Given the description of an element on the screen output the (x, y) to click on. 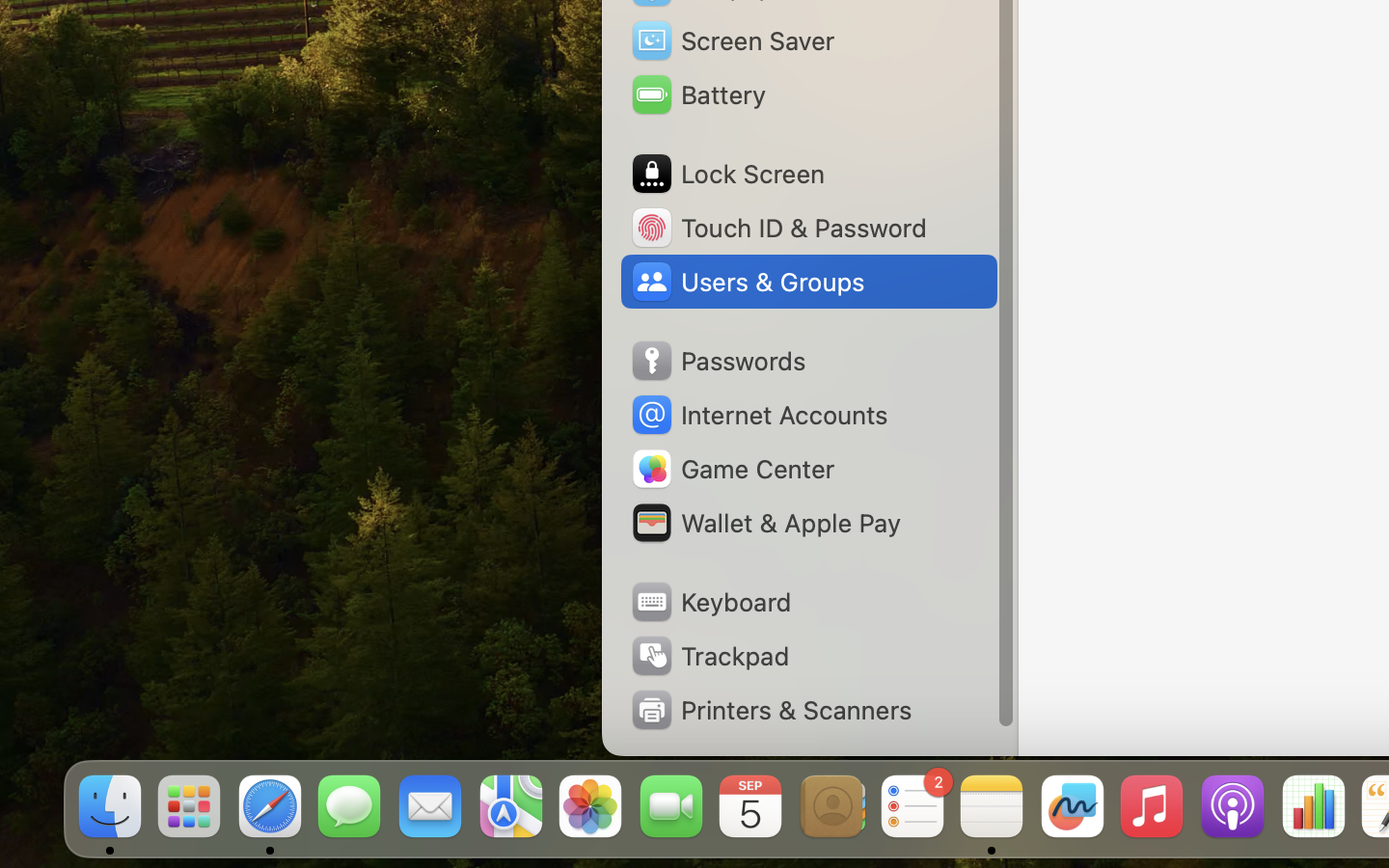
Wallet & Apple Pay Element type: AXStaticText (764, 522)
Touch ID & Password Element type: AXStaticText (777, 227)
Users & Groups Element type: AXStaticText (746, 281)
Screen Saver Element type: AXStaticText (731, 40)
Keyboard Element type: AXStaticText (709, 601)
